Given the description of an element on the screen output the (x, y) to click on. 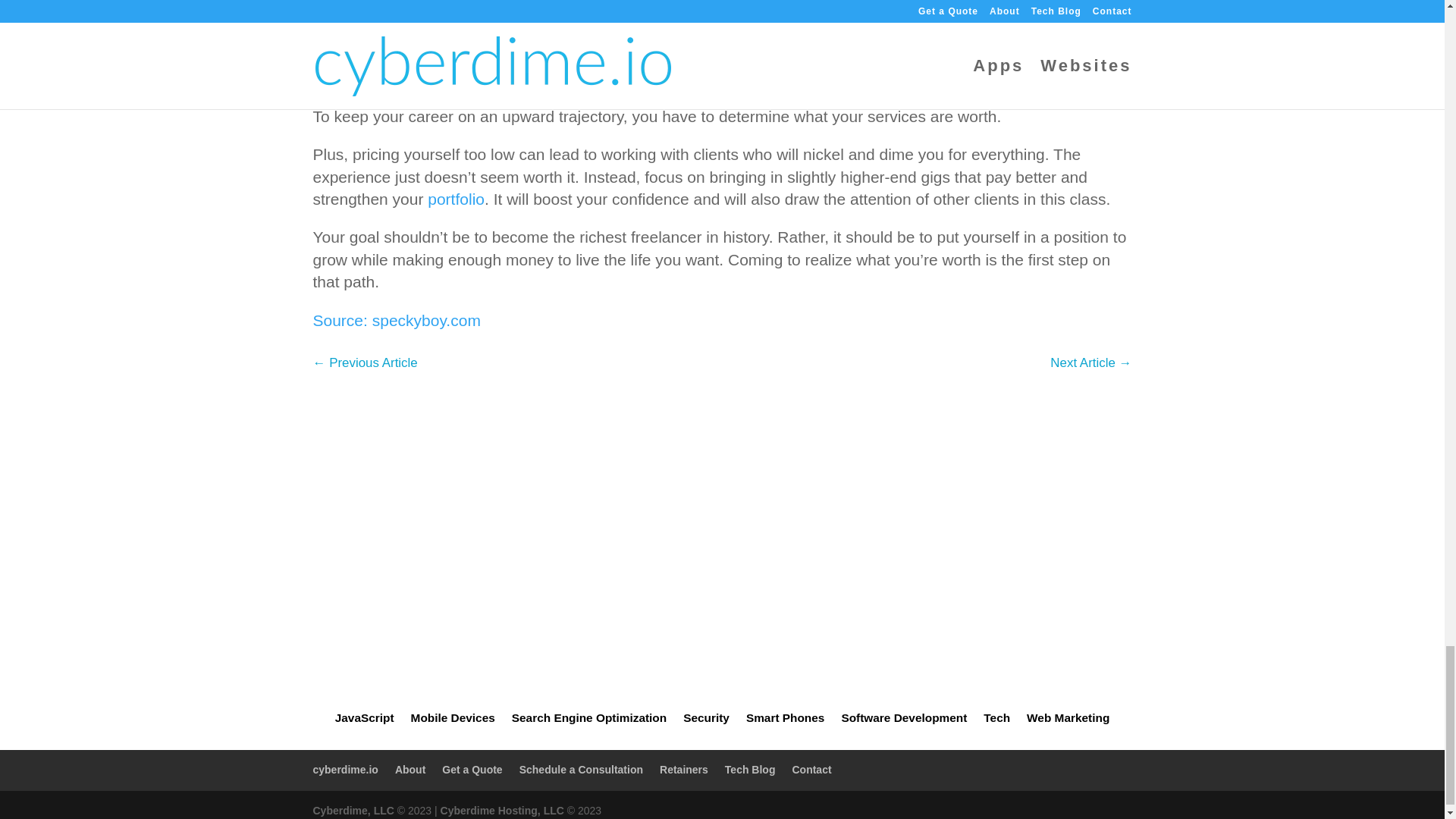
Source: speckyboy.com (396, 319)
portfolio (456, 199)
